Given the description of an element on the screen output the (x, y) to click on. 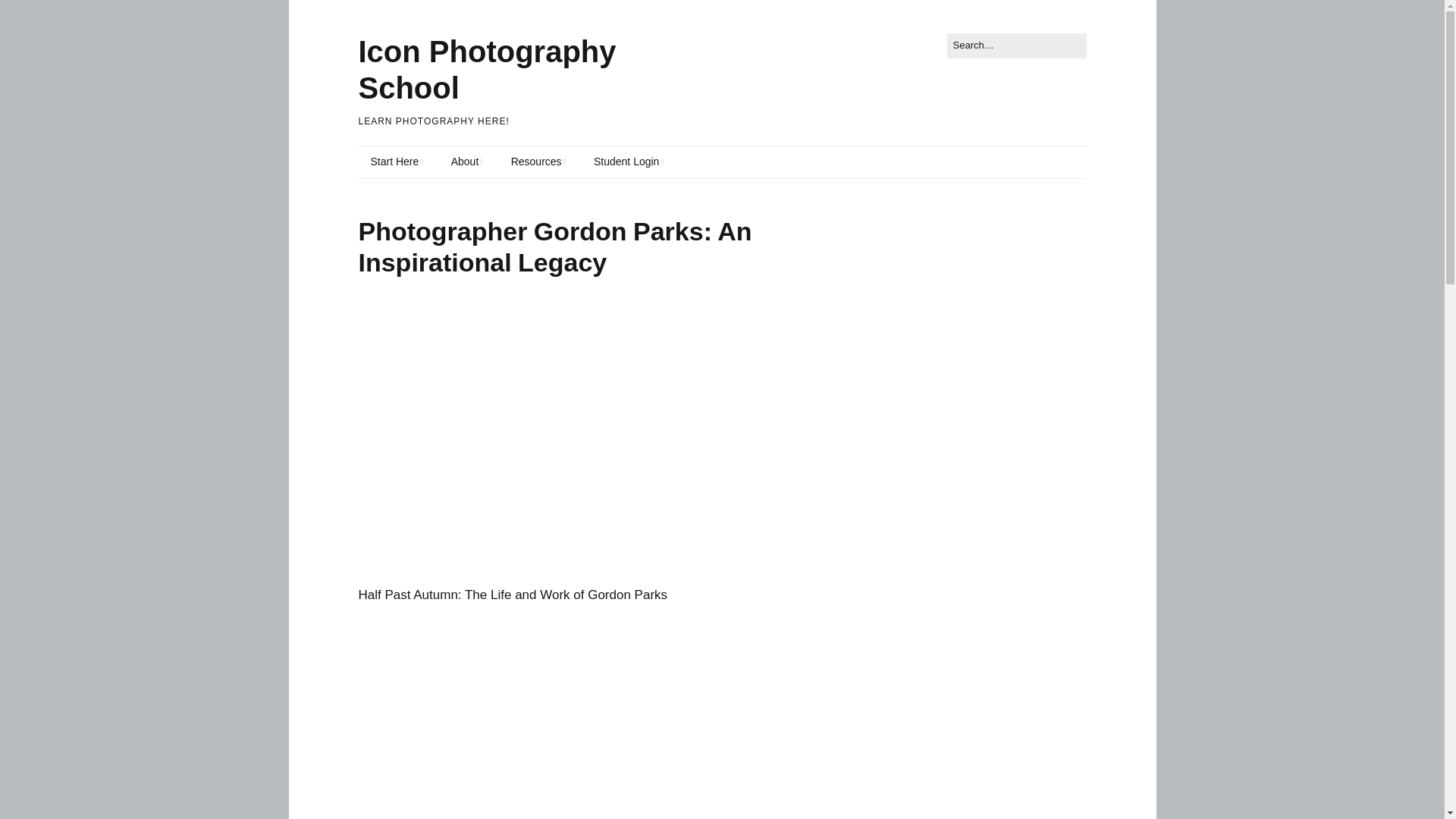
Start Here (395, 162)
Gordon Parks (593, 720)
Search (29, 15)
Icon Photography School (486, 69)
Press Enter to submit your search (1016, 45)
Resources (538, 162)
Student Login (627, 162)
About (467, 162)
